Given the description of an element on the screen output the (x, y) to click on. 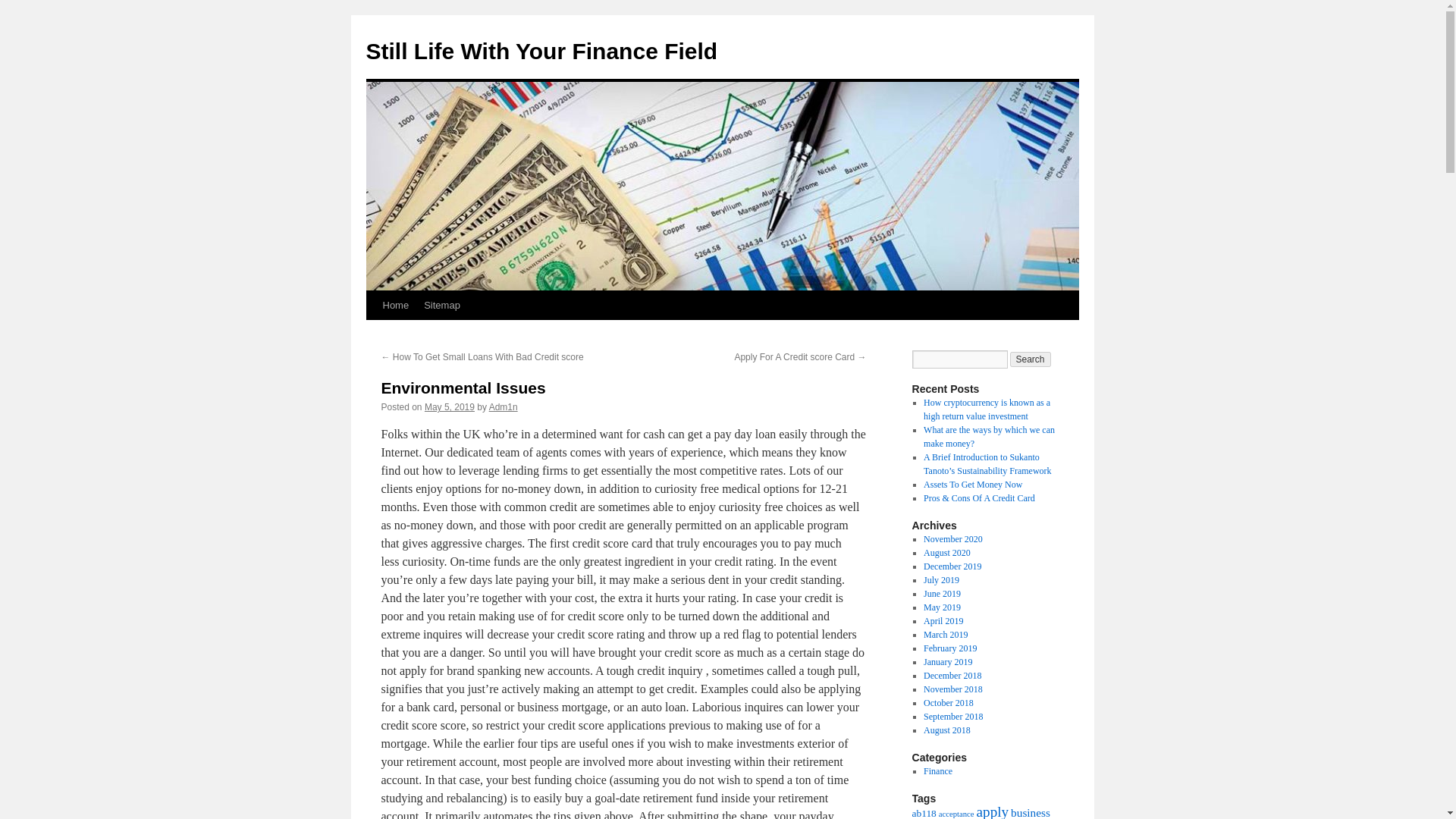
January 2019 (947, 661)
Search (1030, 359)
View all posts by Adm1n (503, 407)
Home (395, 305)
February 2019 (949, 647)
6:35 am (449, 407)
May 2019 (941, 606)
Search (1030, 359)
Assets To Get Money Now (972, 484)
November 2020 (952, 538)
June 2019 (941, 593)
November 2018 (952, 688)
Adm1n (503, 407)
April 2019 (942, 620)
May 5, 2019 (449, 407)
